Given the description of an element on the screen output the (x, y) to click on. 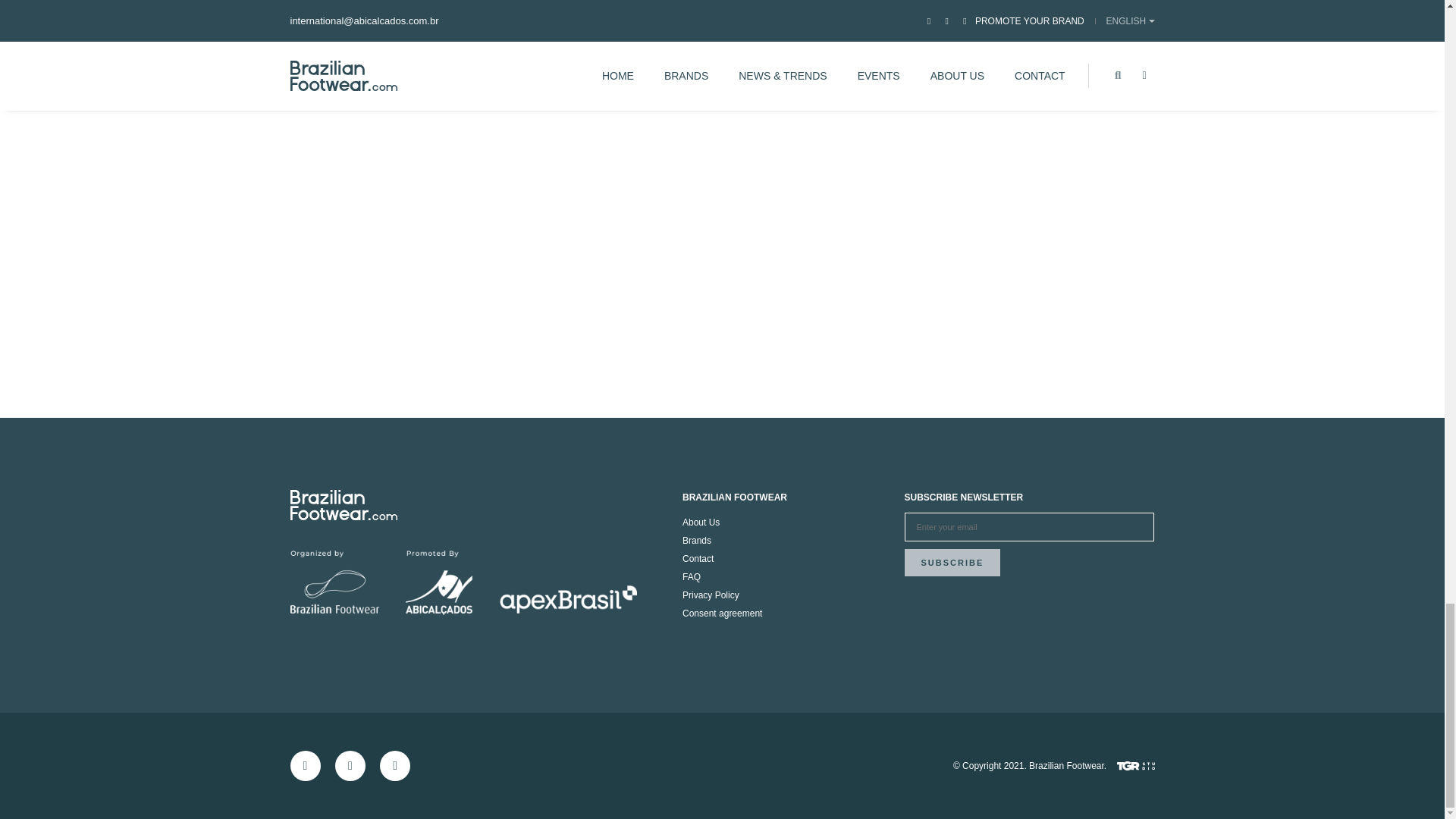
FAQ (691, 576)
Contact (697, 558)
Privacy Policy (710, 594)
Brands (696, 540)
Consent agreement (721, 613)
SUBSCRIBE (952, 562)
About Us (700, 521)
